Given the description of an element on the screen output the (x, y) to click on. 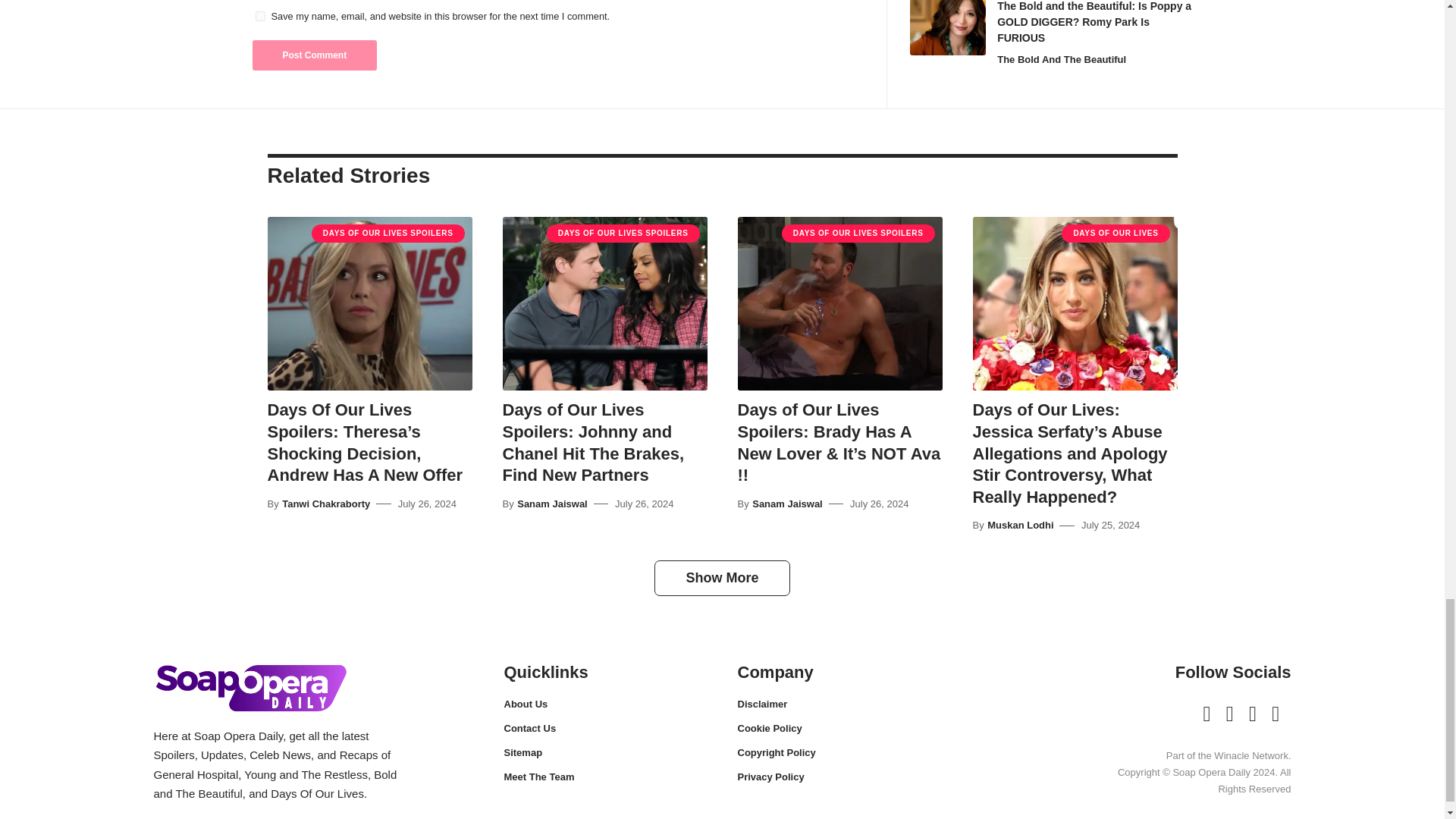
Post Comment (314, 55)
yes (259, 16)
